Given the description of an element on the screen output the (x, y) to click on. 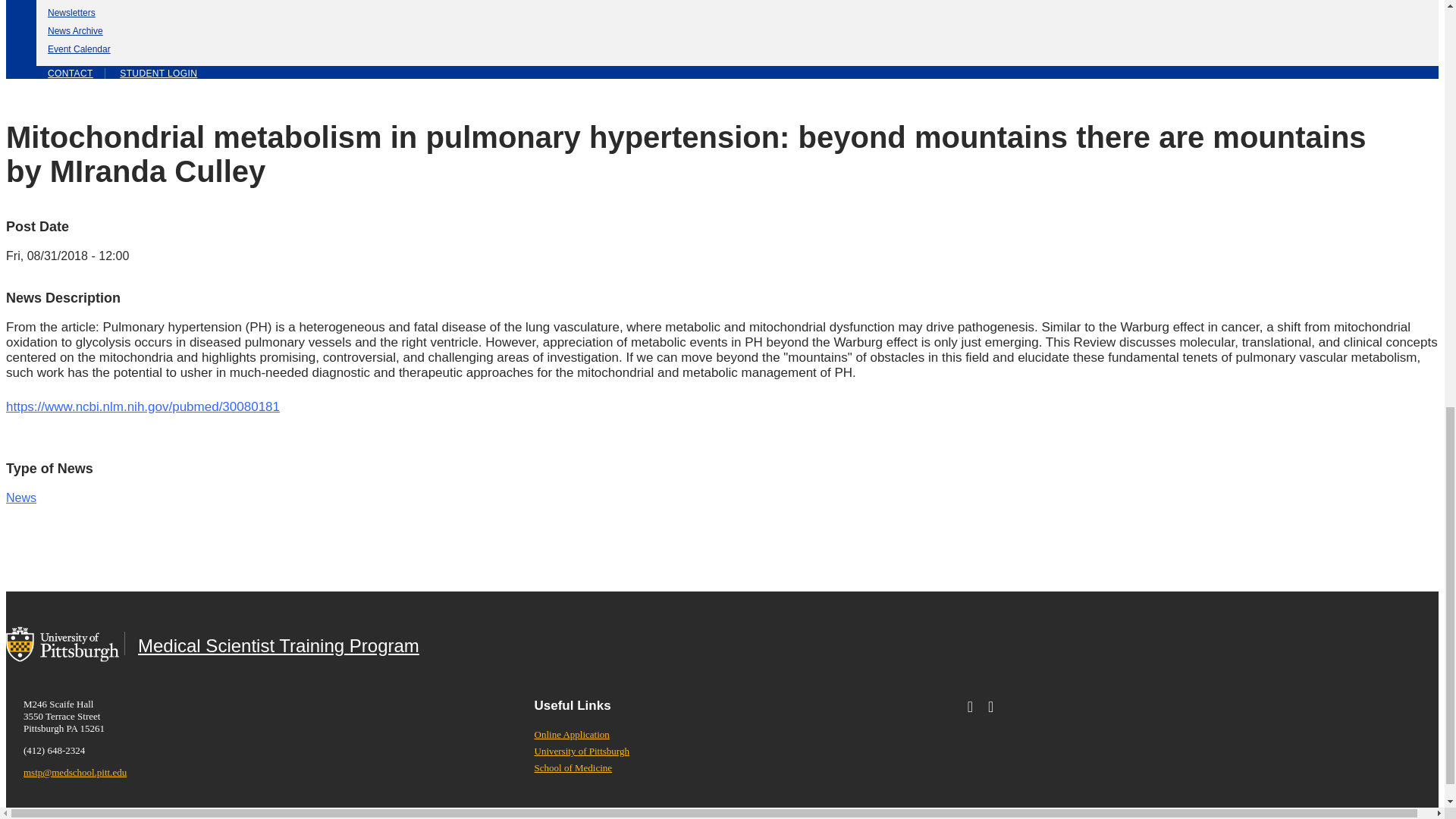
Pitt Home (62, 642)
contact form (70, 72)
Home (271, 643)
